Given the description of an element on the screen output the (x, y) to click on. 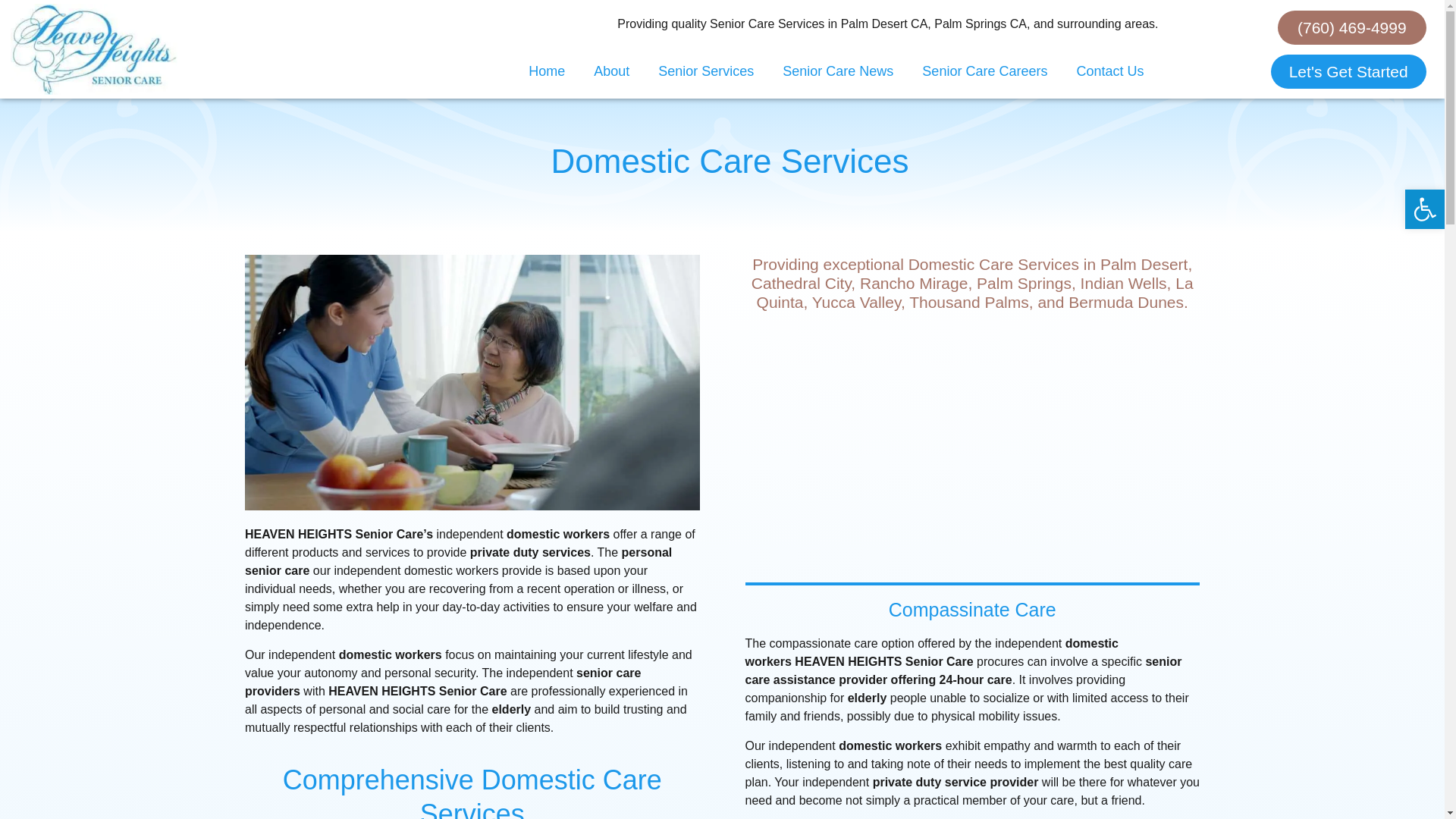
About (611, 70)
Home (546, 70)
Contact Us (1109, 70)
Senior Care News (837, 70)
Senior Care Careers (984, 70)
Let's Get Started (1348, 71)
Accessibility Tools (1424, 209)
Senior Services (705, 70)
